Given the description of an element on the screen output the (x, y) to click on. 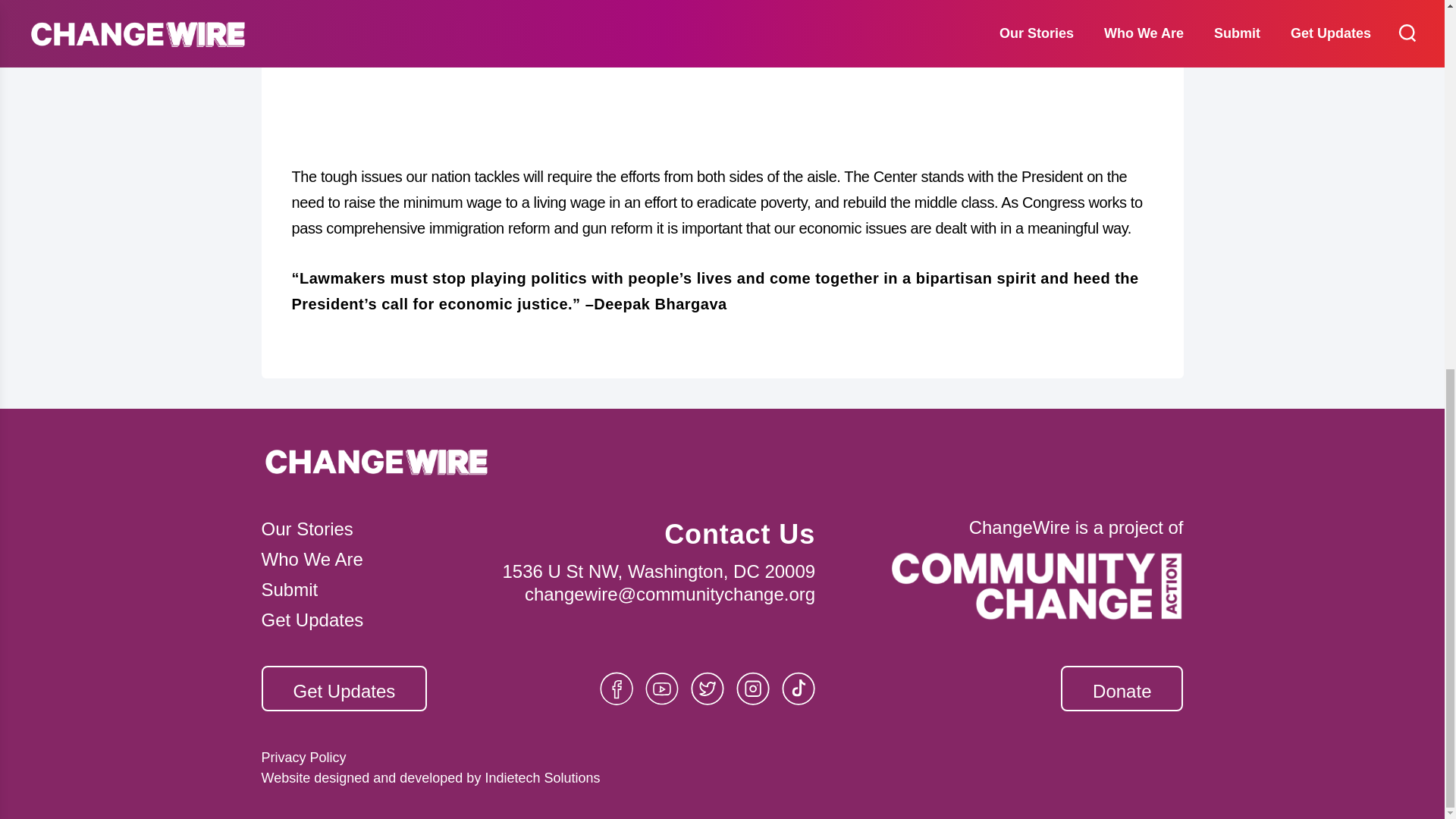
Who We Are (376, 565)
Submit (376, 595)
Our Stories (376, 535)
Get Updates (376, 619)
